Given the description of an element on the screen output the (x, y) to click on. 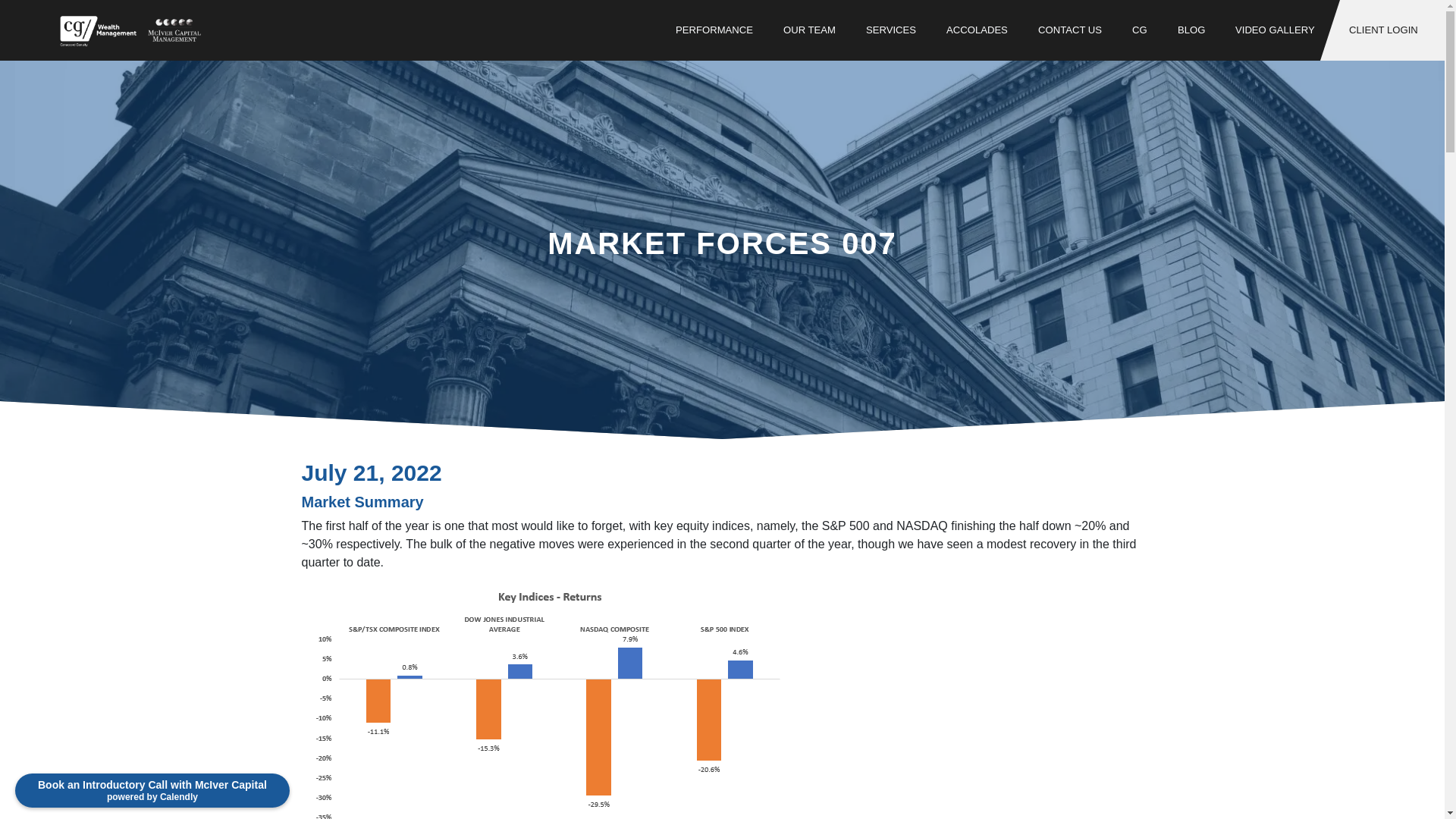
BLOG (1190, 30)
VIDEO GALLERY (1275, 30)
ACCOLADES (977, 30)
CONTACT US (1069, 30)
OUR TEAM (809, 30)
SERVICES (890, 30)
PERFORMANCE (714, 30)
CLIENT LOGIN (1381, 30)
